Given the description of an element on the screen output the (x, y) to click on. 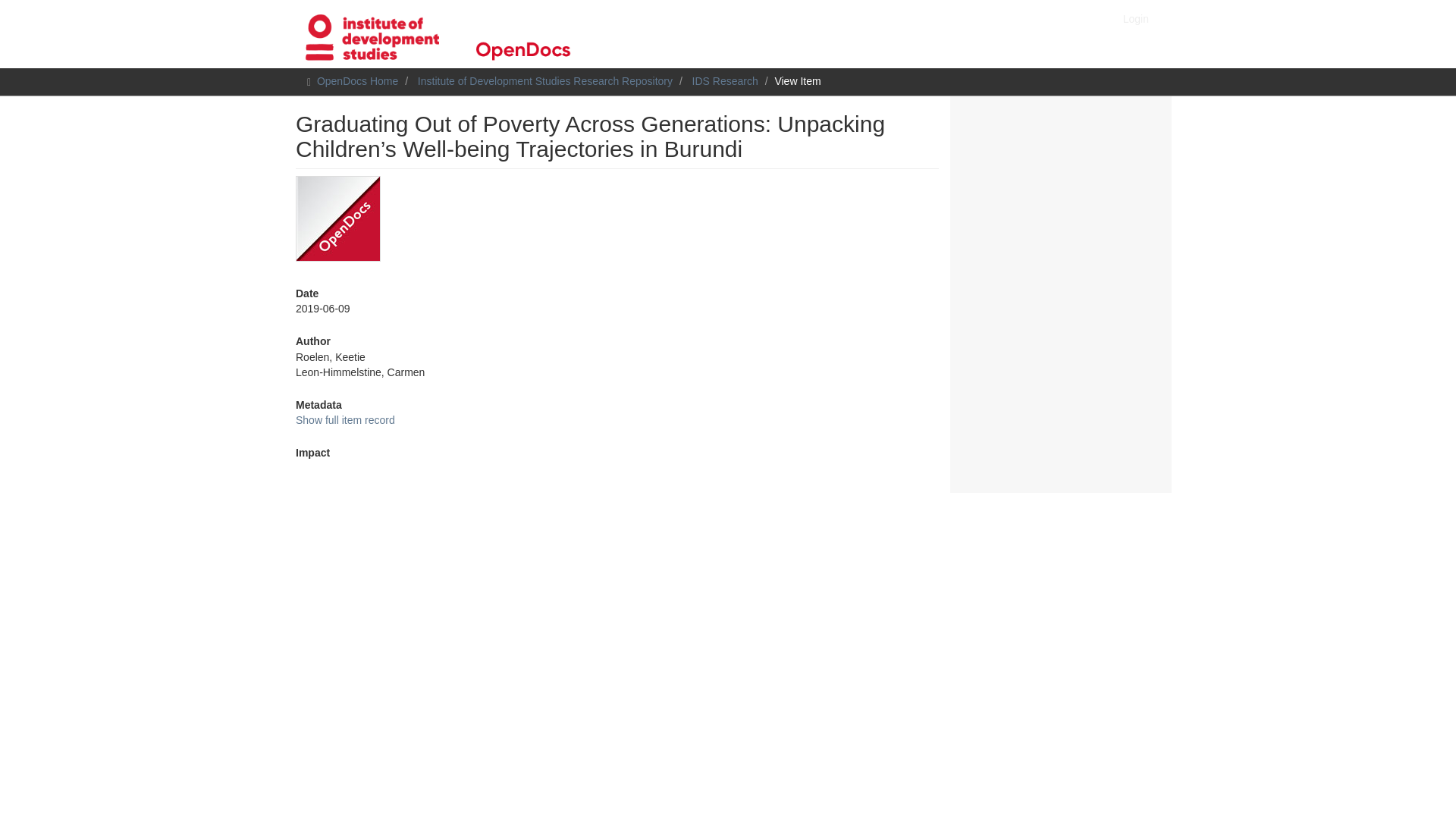
Institute of Development Studies Research Repository (544, 80)
IDS Research (725, 80)
OpenDocs Home (357, 80)
Show full item record (344, 419)
Login (1136, 18)
